Given the description of an element on the screen output the (x, y) to click on. 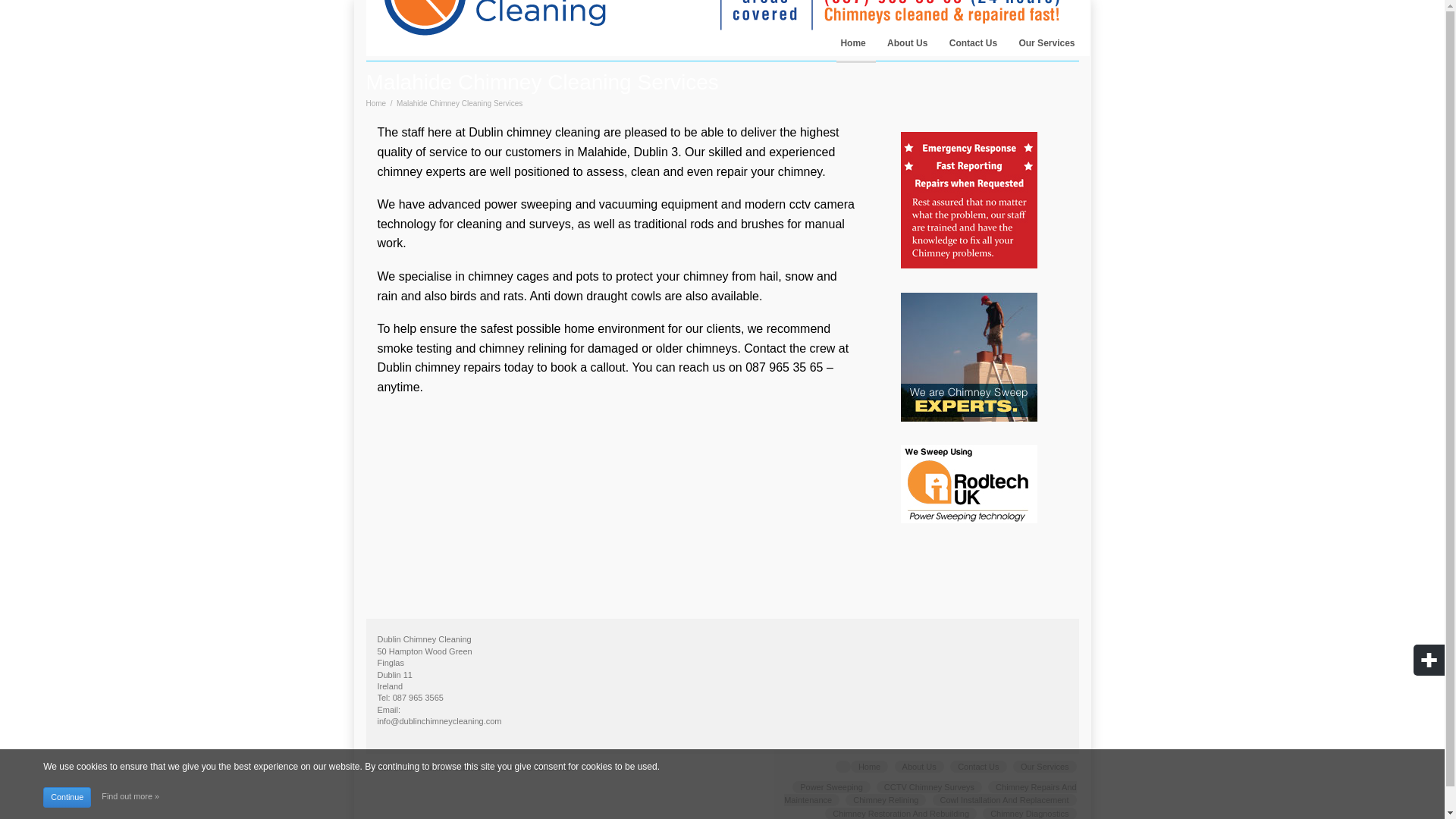
We have advanced power sweeping and vacuuming equipment (547, 204)
Our Services (1045, 766)
Contact Us (972, 47)
About Us (919, 766)
Home (869, 766)
Home (375, 103)
Chimney Repairs And Maintenance (929, 793)
Contact Us (978, 766)
Chimney Relining (885, 799)
